Given the description of an element on the screen output the (x, y) to click on. 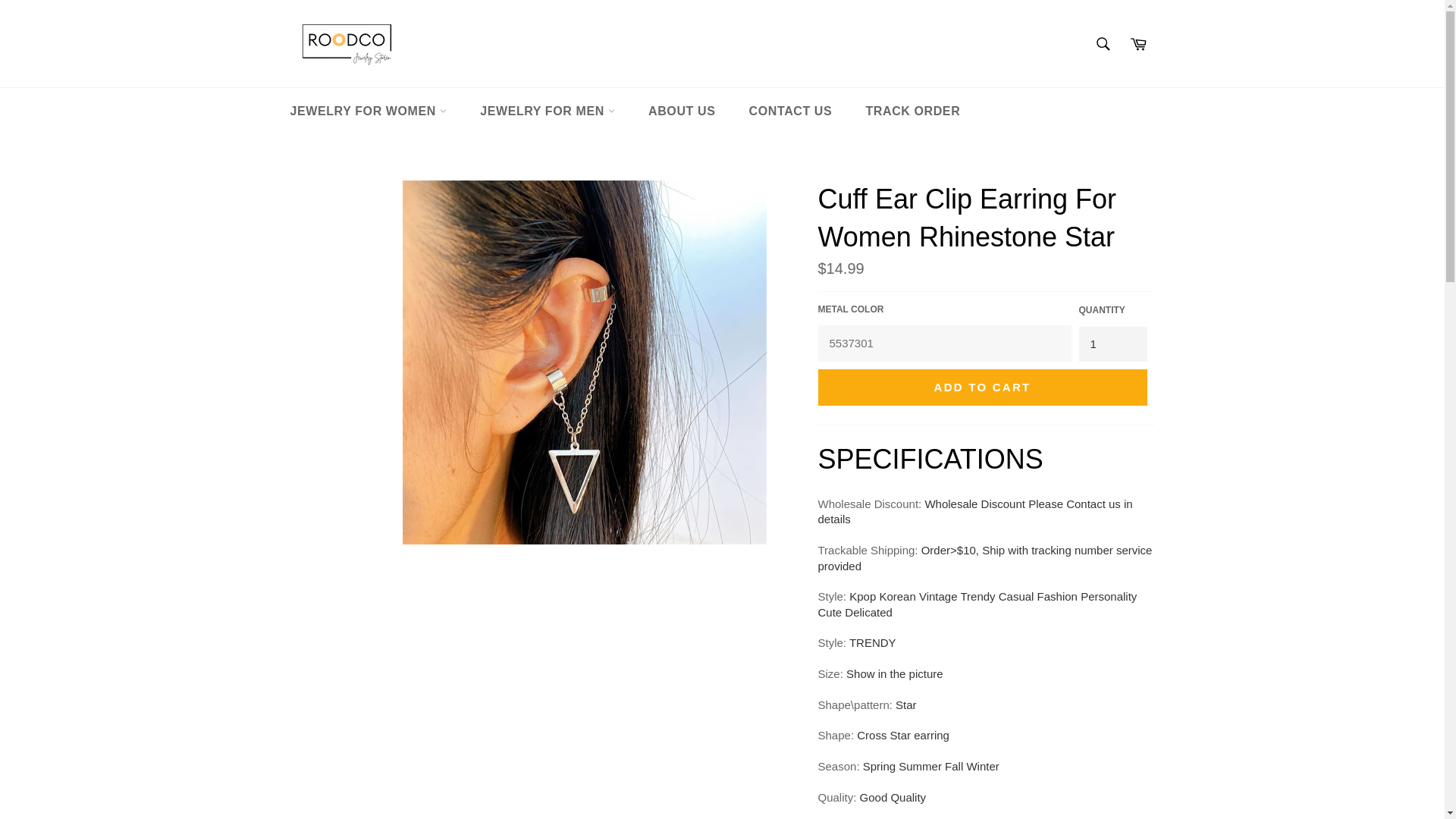
JEWELRY FOR MEN (547, 111)
CONTACT US (790, 111)
ABOUT US (681, 111)
Search (1103, 42)
TRACK ORDER (912, 111)
Cart (1138, 42)
1 (1112, 344)
JEWELRY FOR WOMEN (368, 111)
